Given the description of an element on the screen output the (x, y) to click on. 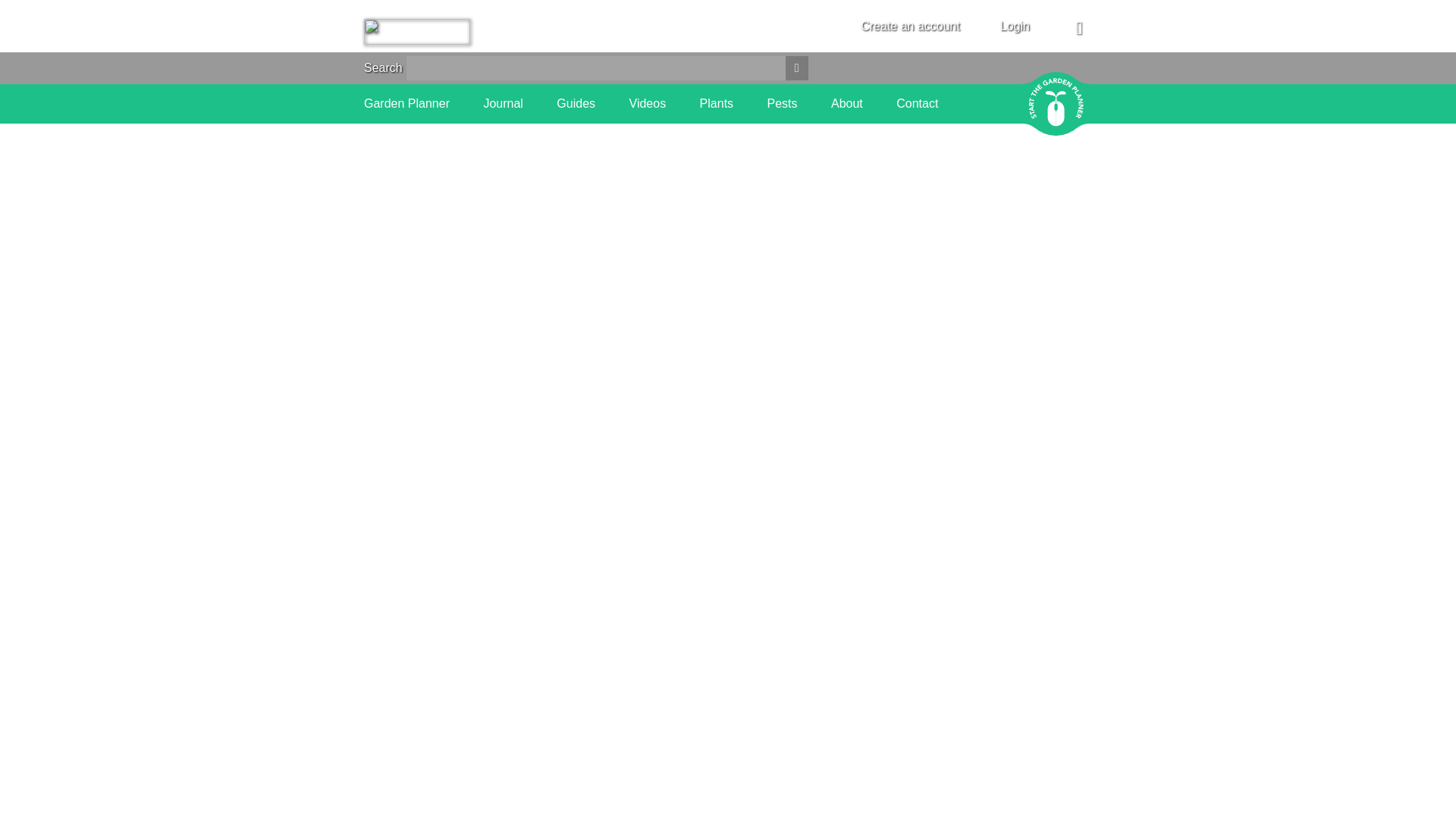
Garden Planner (406, 103)
Create an account (909, 25)
Login (1014, 25)
Videos (647, 103)
Contact (916, 103)
Guides (575, 103)
Journal (502, 103)
